Given the description of an element on the screen output the (x, y) to click on. 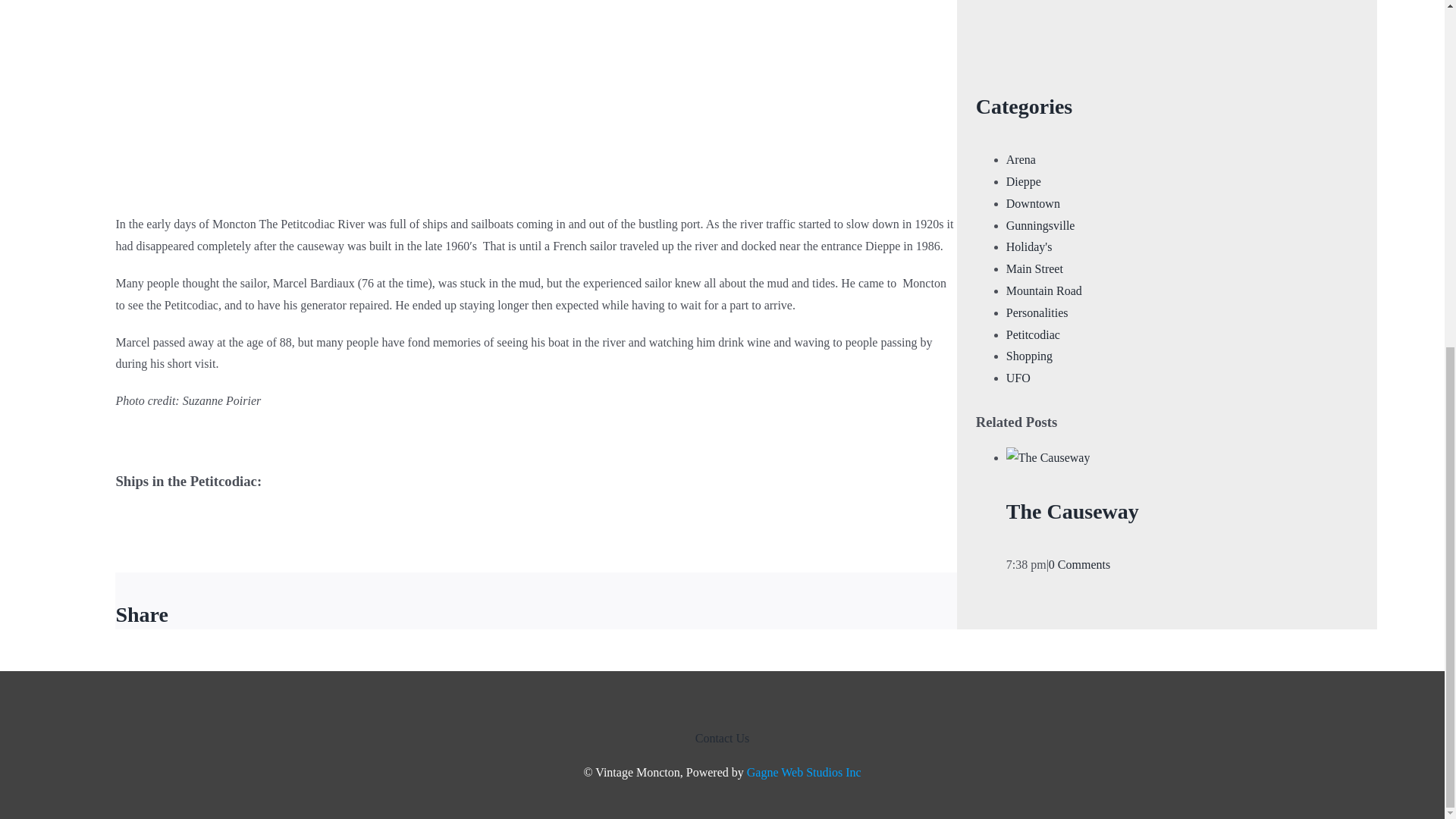
Personalities (1037, 312)
Mountain Road (1043, 290)
Dieppe (1023, 181)
The Causeway (1072, 511)
Arena (1020, 159)
Shopping (1029, 355)
Main Street (1034, 268)
Holiday's (1029, 246)
Downtown (1032, 203)
